Given the description of an element on the screen output the (x, y) to click on. 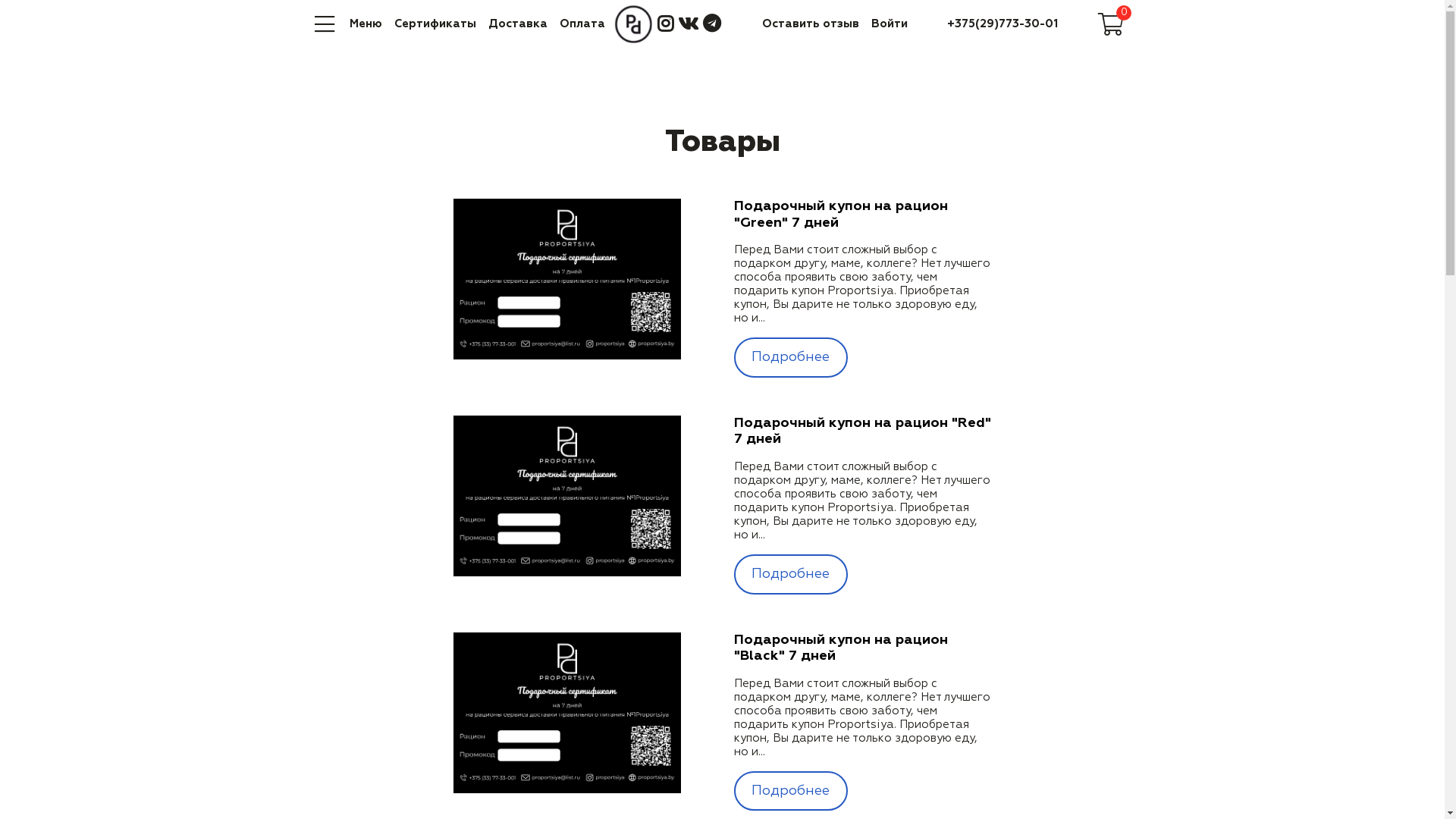
0 Element type: text (1110, 23)
+375(29)773-30-01 Element type: text (1002, 23)
